Given the description of an element on the screen output the (x, y) to click on. 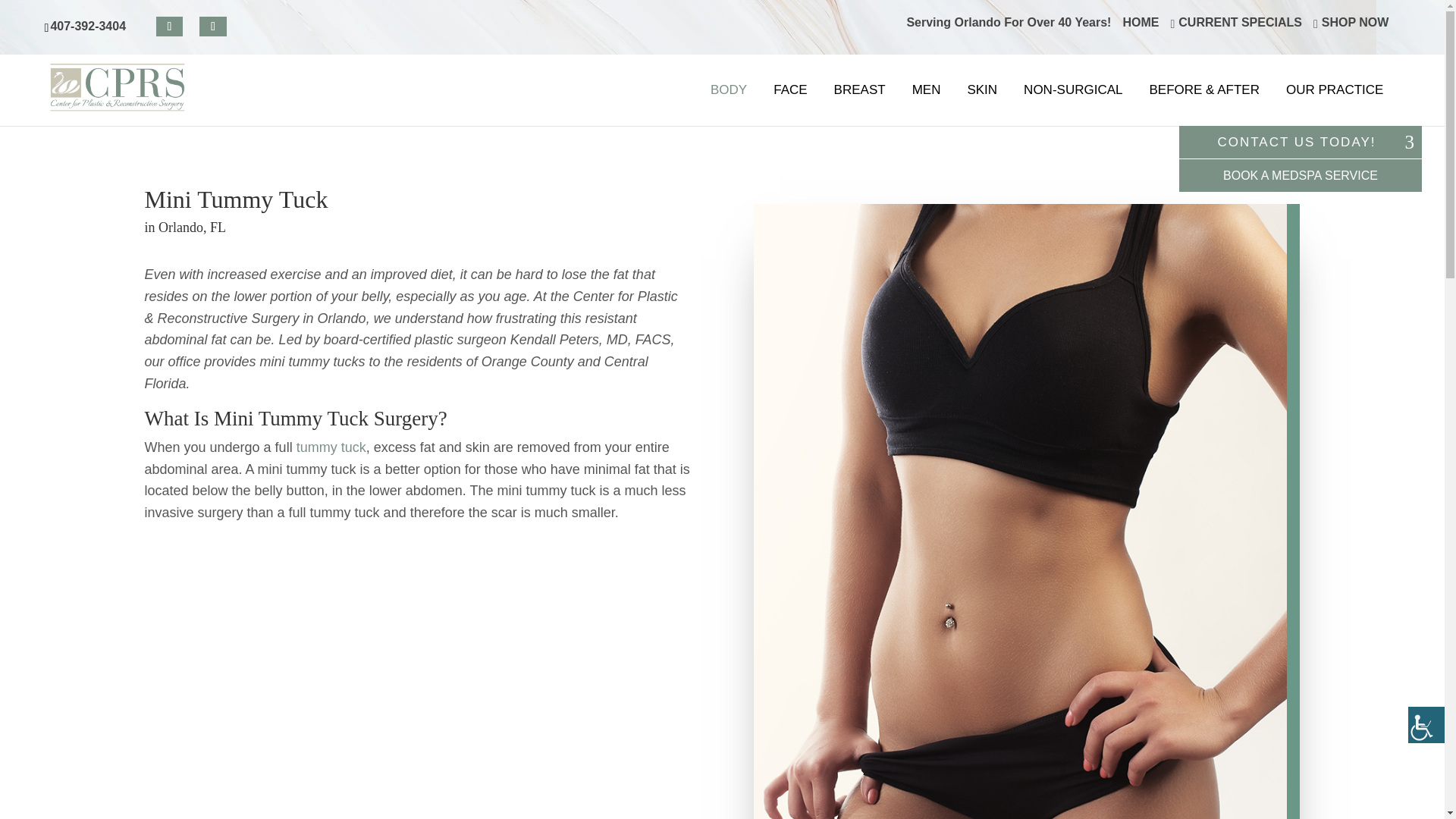
Serving Orlando For Over 40 Years! (1007, 26)
407-392-3404 (90, 25)
HOME (1140, 26)
CURRENT SPECIALS (1235, 26)
SHOP NOW (1351, 26)
